Given the description of an element on the screen output the (x, y) to click on. 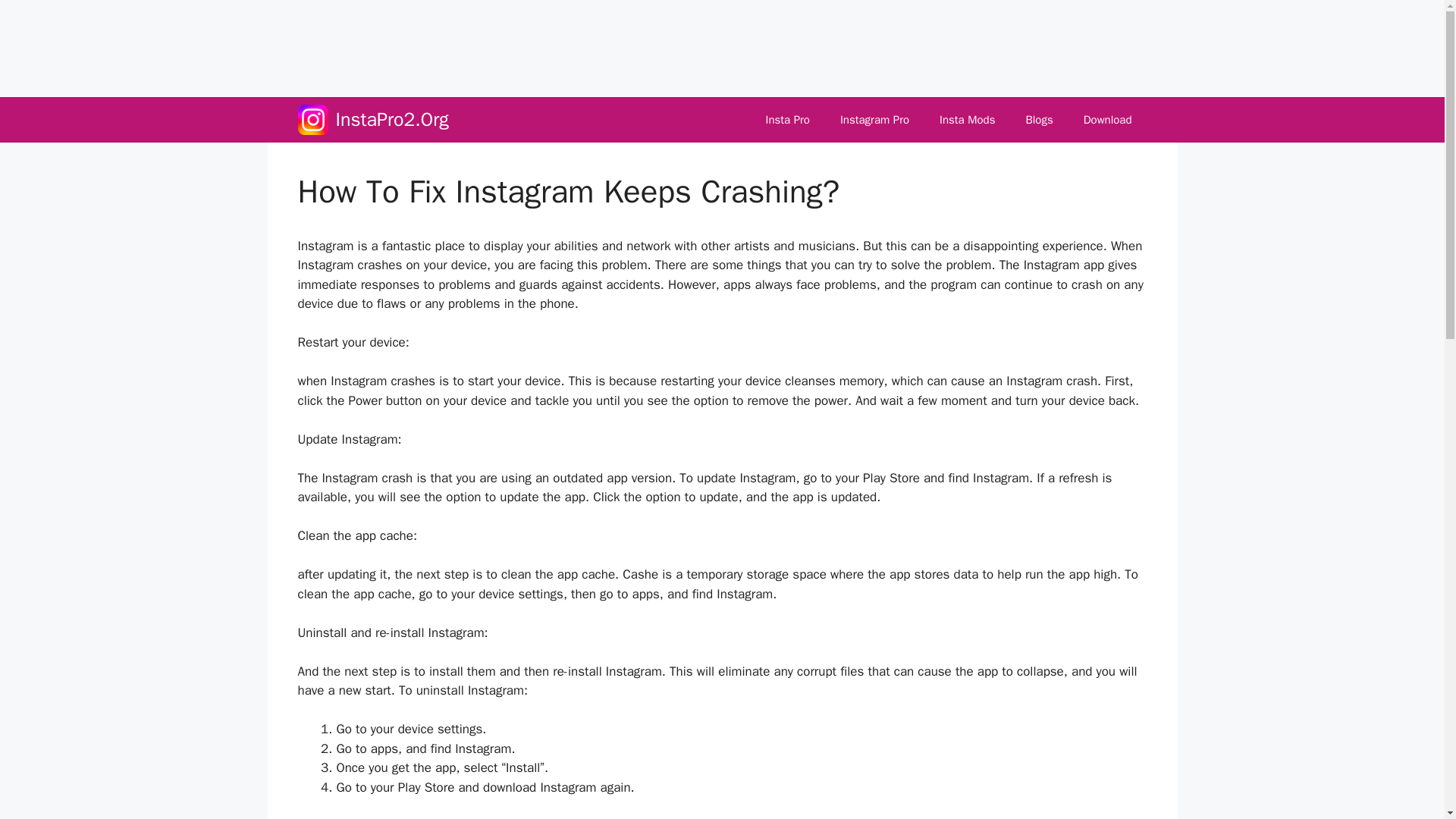
Download (1107, 119)
Insta Pro (788, 119)
Blogs (1038, 119)
Insta Mods (967, 119)
InstaPro2.Org (391, 119)
Instagram Pro (874, 119)
Advertisement (371, 45)
